Given the description of an element on the screen output the (x, y) to click on. 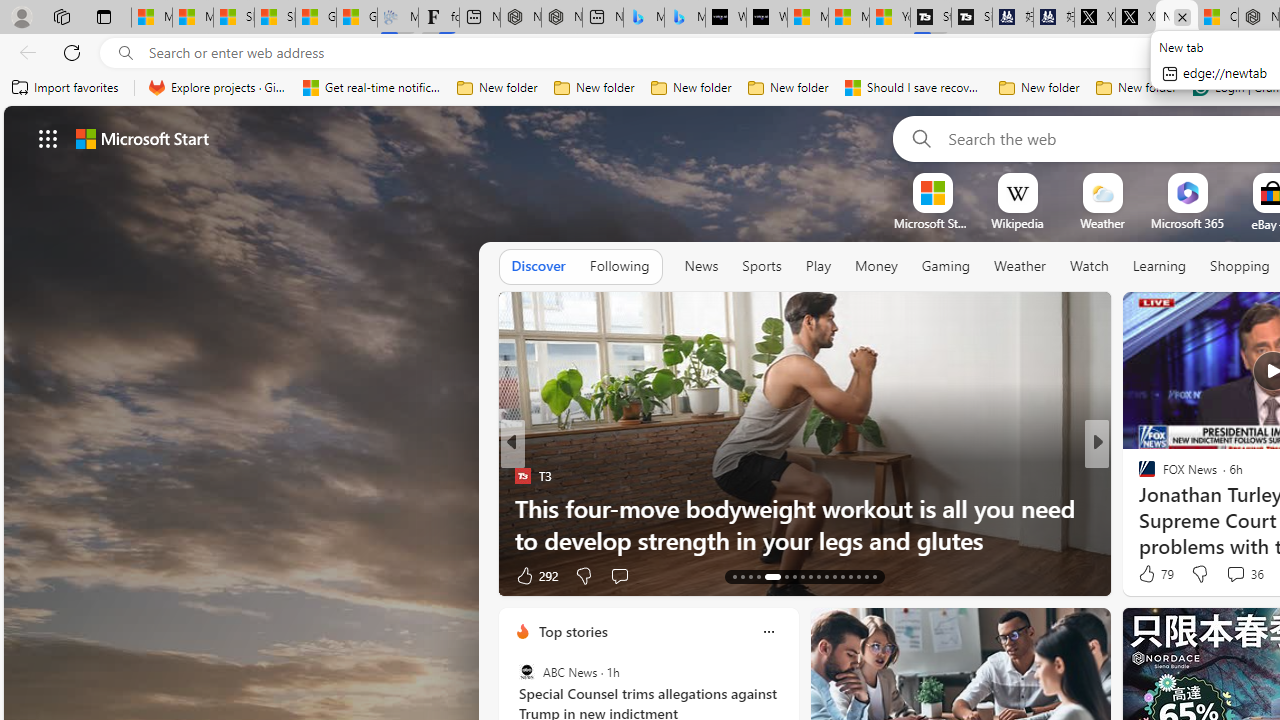
Learning (1159, 267)
Microsoft 365 (1186, 223)
Planning to Organize (1138, 475)
Watch (1089, 267)
Class: control (47, 138)
Discover (538, 265)
AutomationID: waffle (47, 138)
Wikipedia (1017, 223)
Discover (538, 267)
Gilma and Hector both pose tropical trouble for Hawaii (356, 17)
TechRadar (1138, 475)
Close tab (1181, 16)
View comments 334 Comment (11, 575)
